Given the description of an element on the screen output the (x, y) to click on. 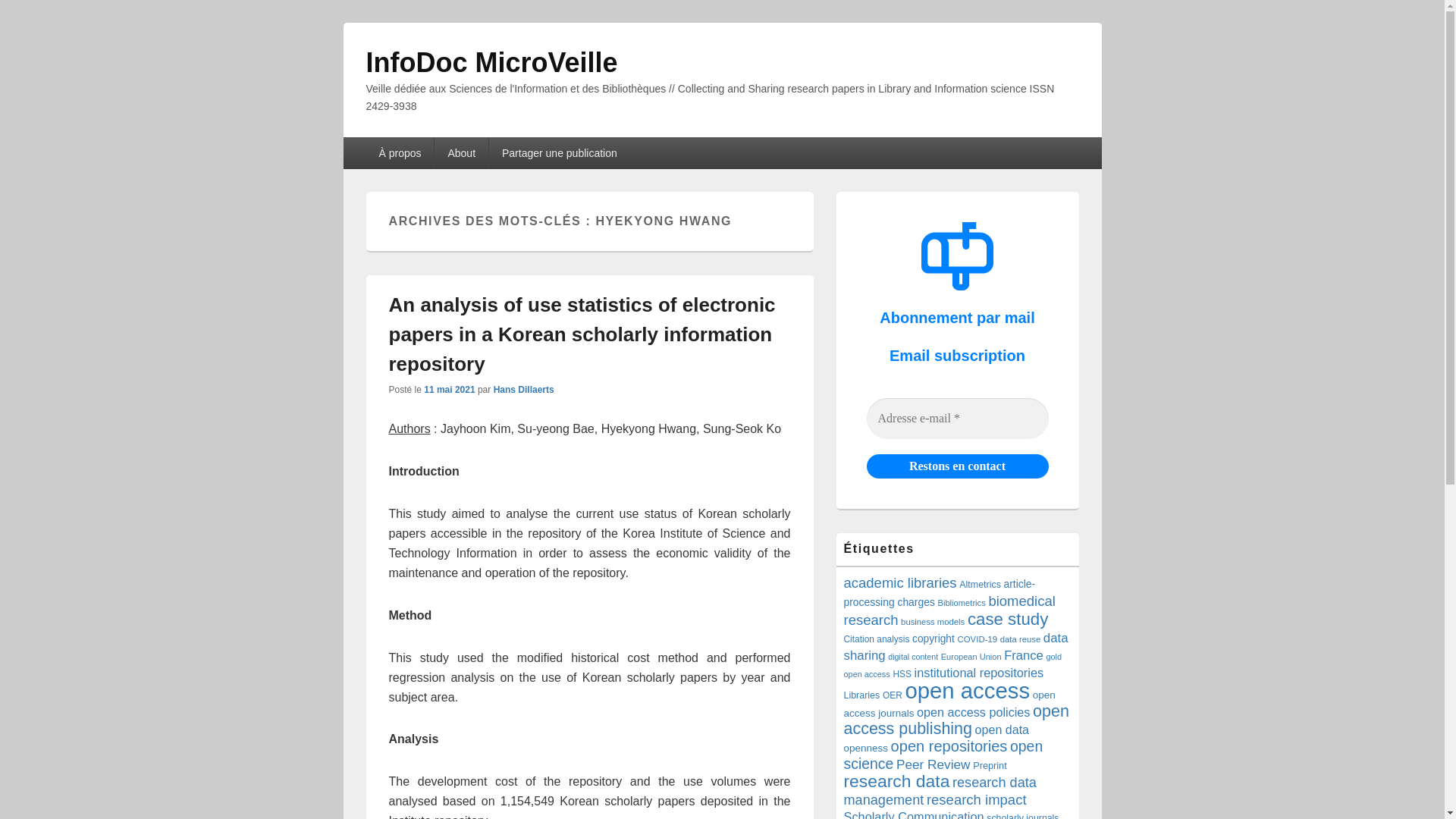
case study (1008, 618)
data sharing (955, 646)
academic libraries (899, 582)
institutional repositories (978, 672)
COVID-19 (976, 638)
HSS (901, 674)
Libraries (861, 695)
17 h 31 min (448, 389)
Altmetrics (980, 584)
